Given the description of an element on the screen output the (x, y) to click on. 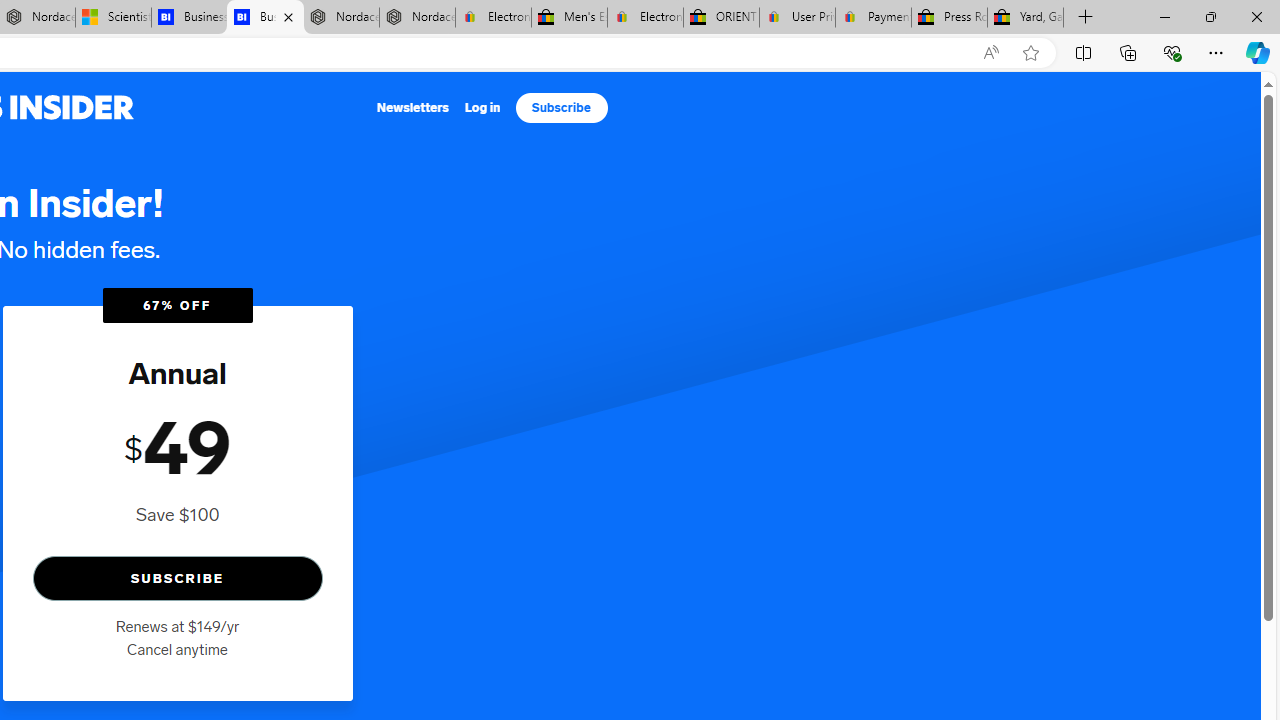
Subscribe (561, 107)
Newsletters (413, 107)
